Given the description of an element on the screen output the (x, y) to click on. 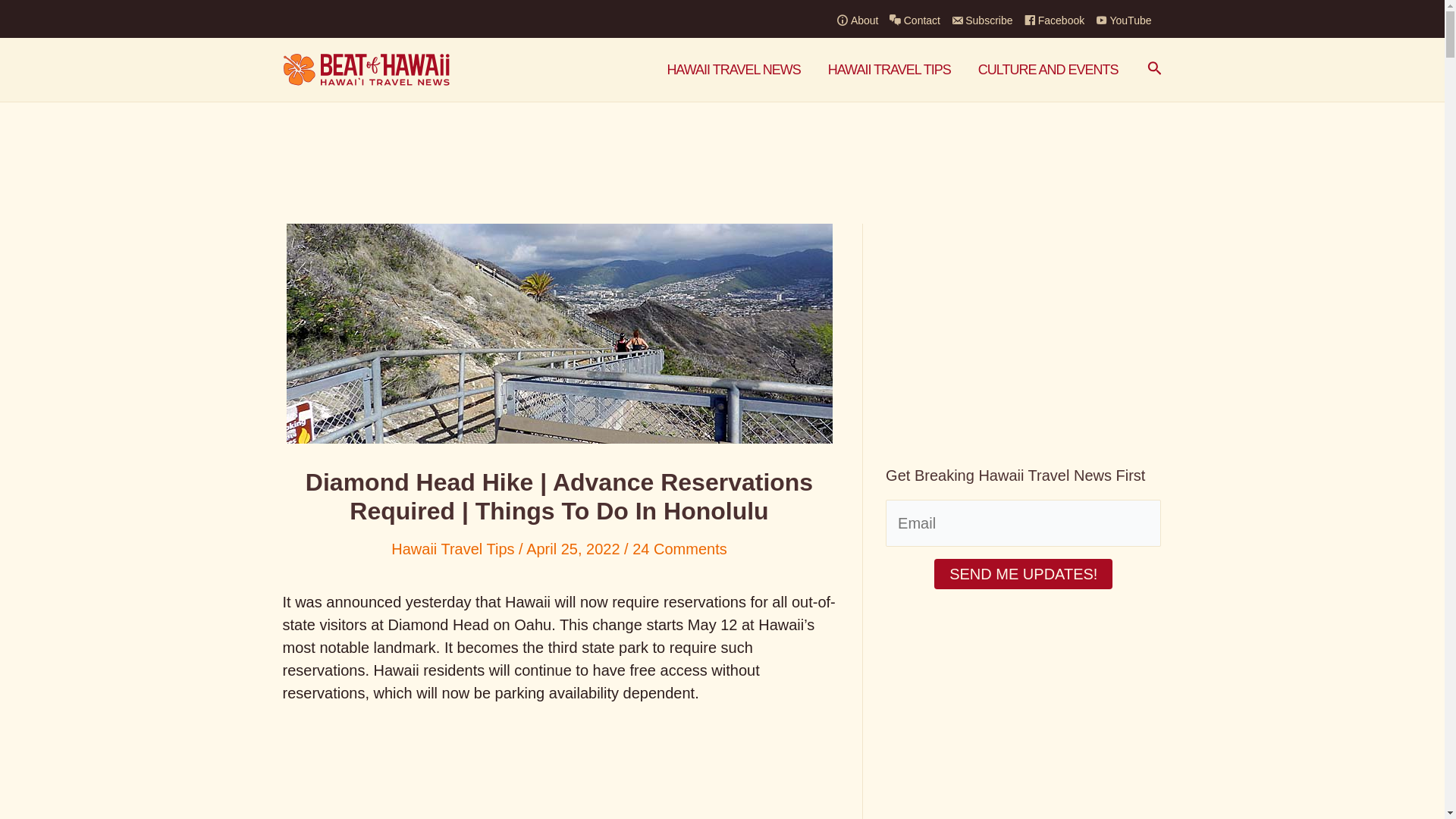
Subscribe (986, 20)
YouTube (1127, 20)
HAWAII TRAVEL NEWS (732, 69)
Search (1154, 69)
HAWAII TRAVEL TIPS (888, 69)
CULTURE AND EVENTS (1047, 69)
Facebook (1059, 20)
About (862, 20)
24 Comments (678, 548)
Hawaii Travel Tips (452, 548)
Contact (919, 20)
